Given the description of an element on the screen output the (x, y) to click on. 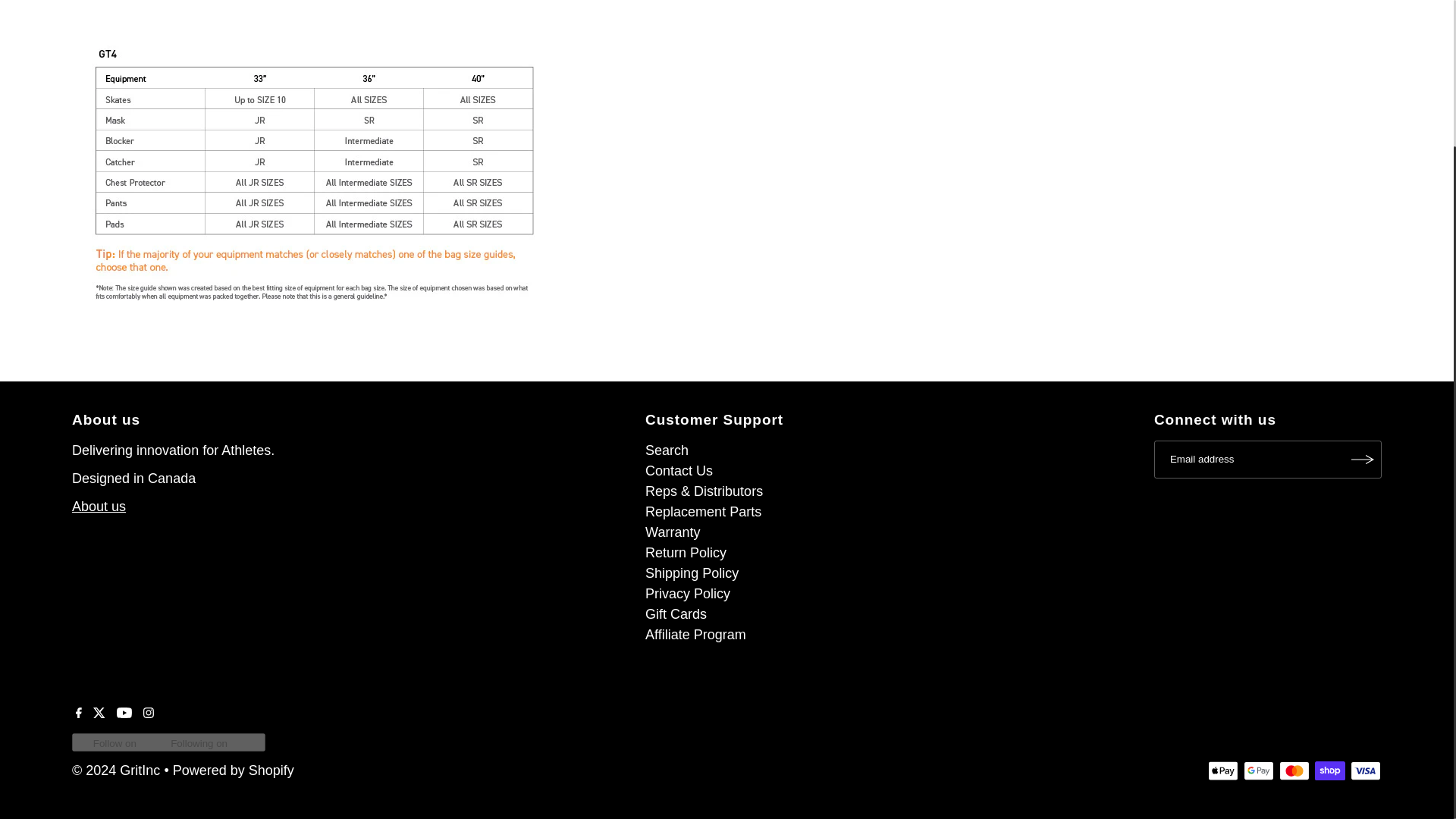
About Us (98, 506)
Shop Pay (1329, 770)
Visa (1365, 770)
Mastercard (1293, 770)
Google Pay (1258, 770)
Apple Pay (1223, 770)
